Given the description of an element on the screen output the (x, y) to click on. 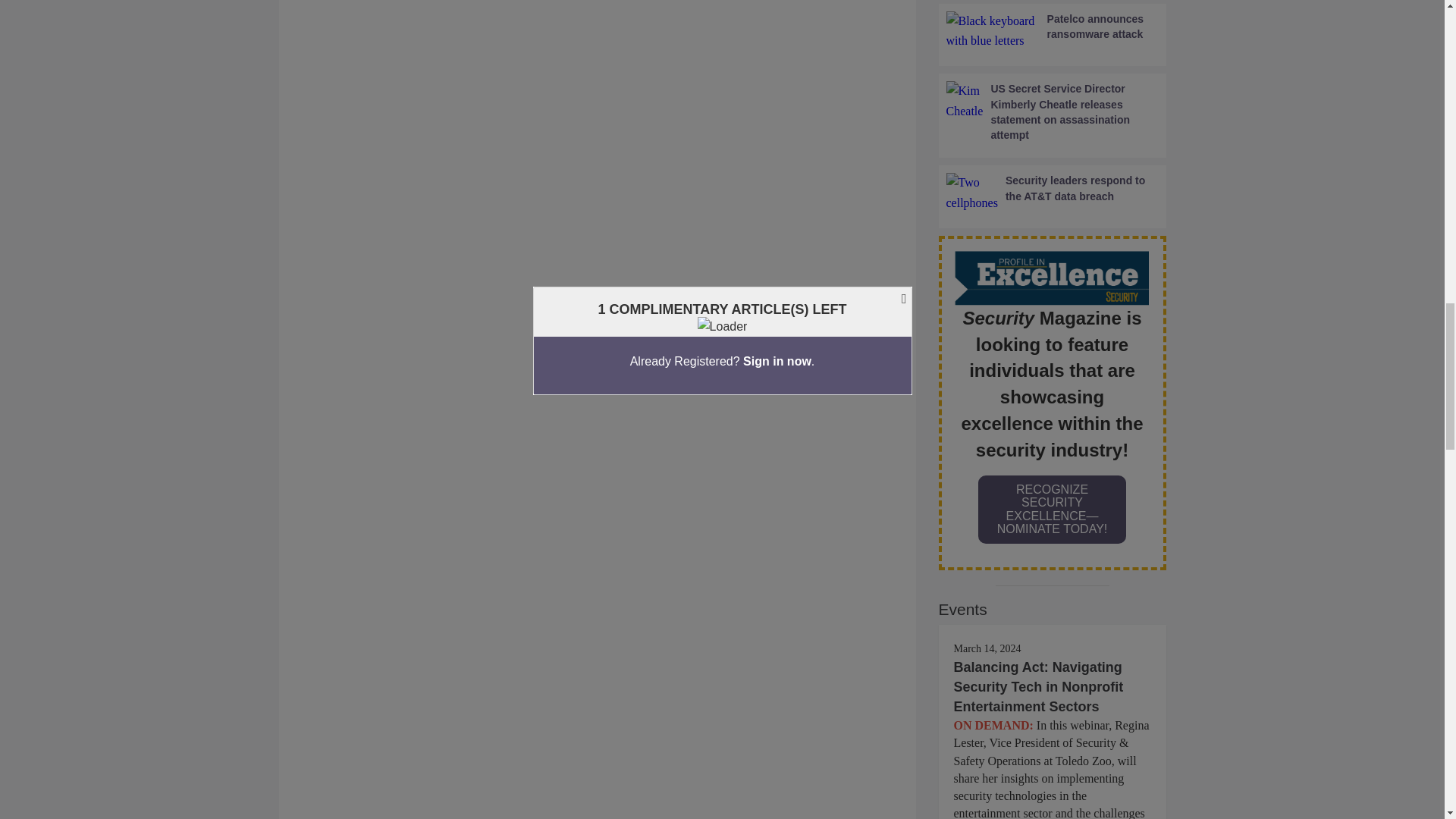
Patelco announces ransomware attack (1052, 31)
